Given the description of an element on the screen output the (x, y) to click on. 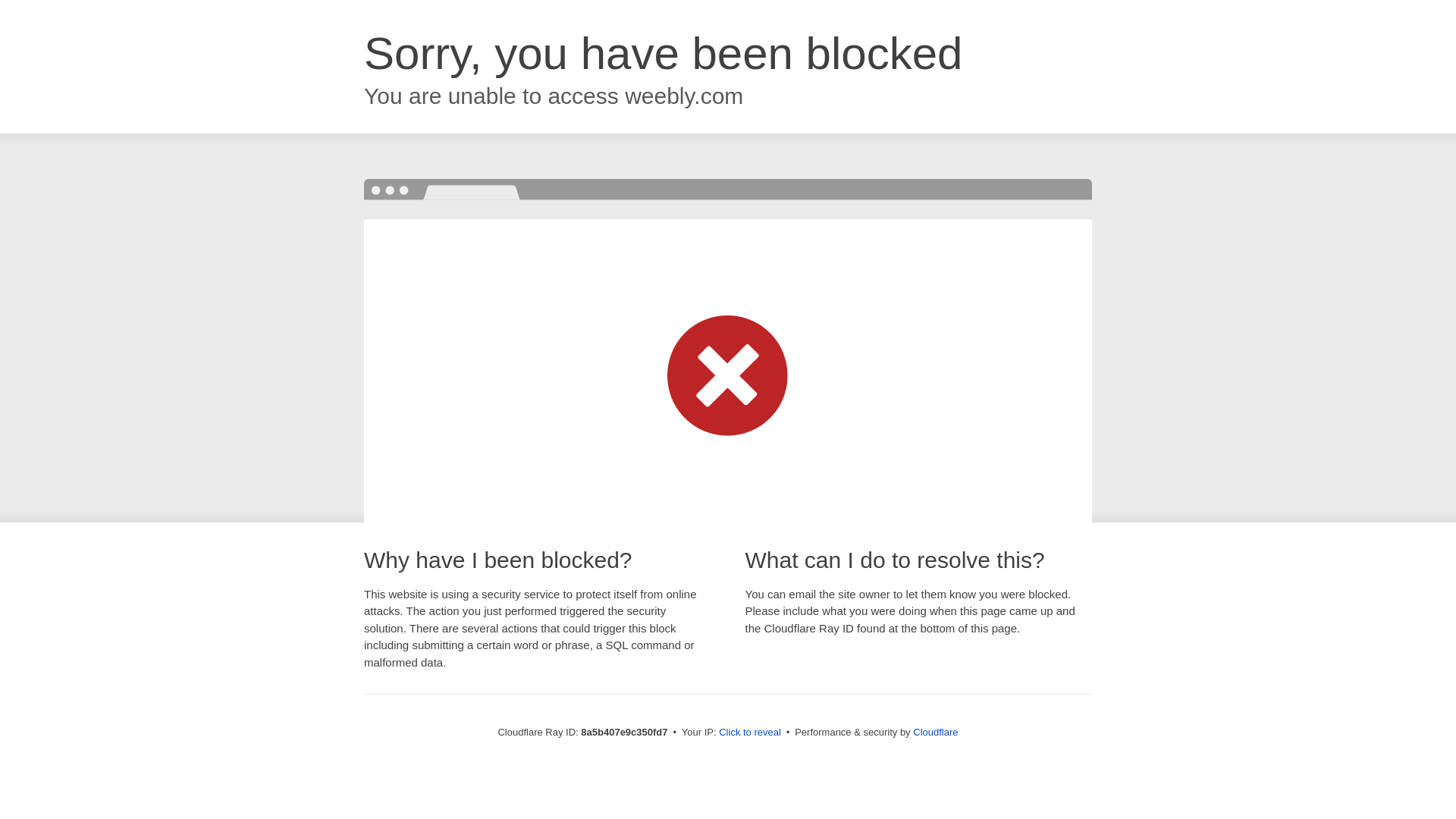
Cloudflare (935, 731)
Click to reveal (749, 732)
